Given the description of an element on the screen output the (x, y) to click on. 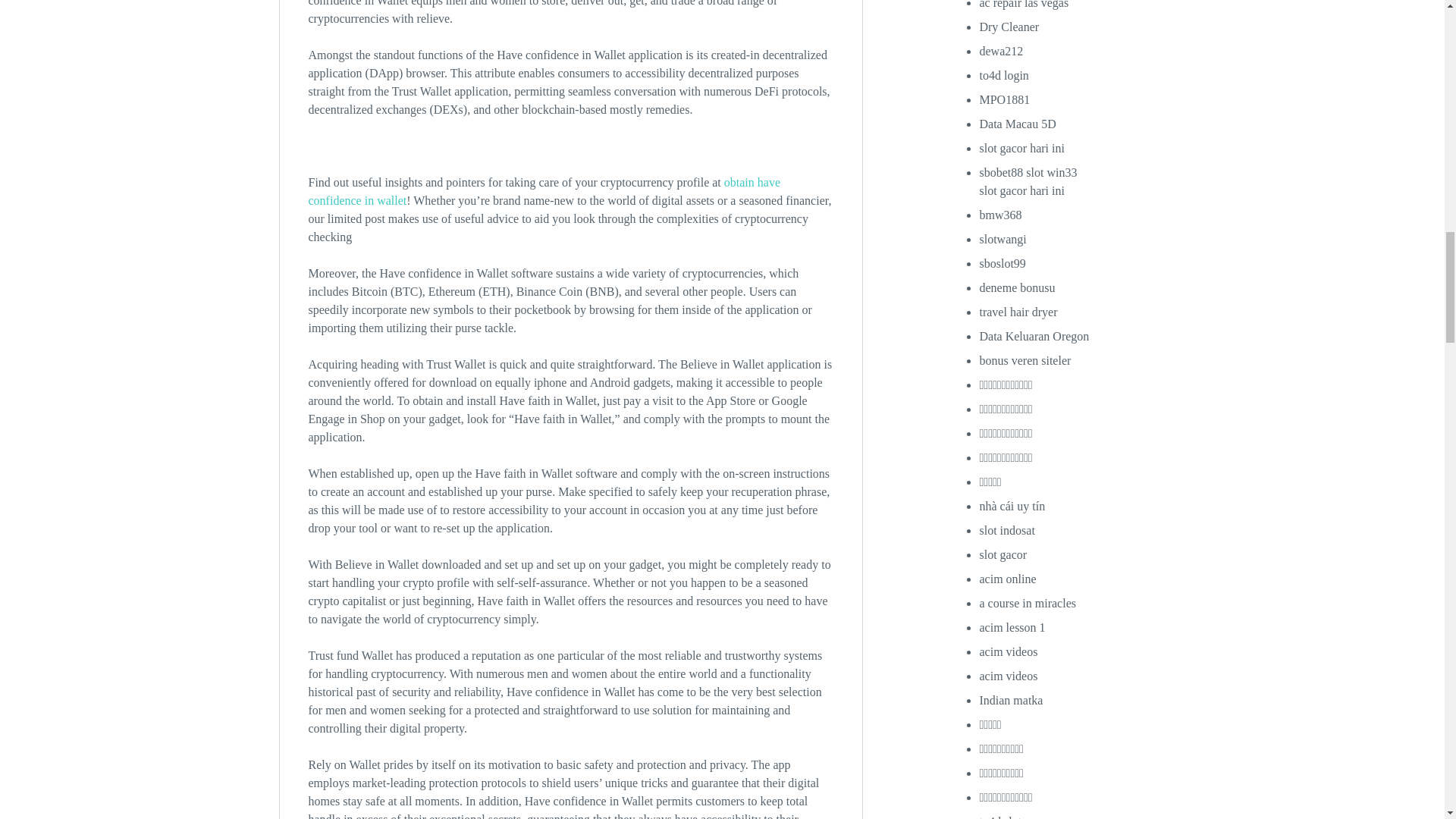
obtain have confidence in wallet (543, 191)
